Given the description of an element on the screen output the (x, y) to click on. 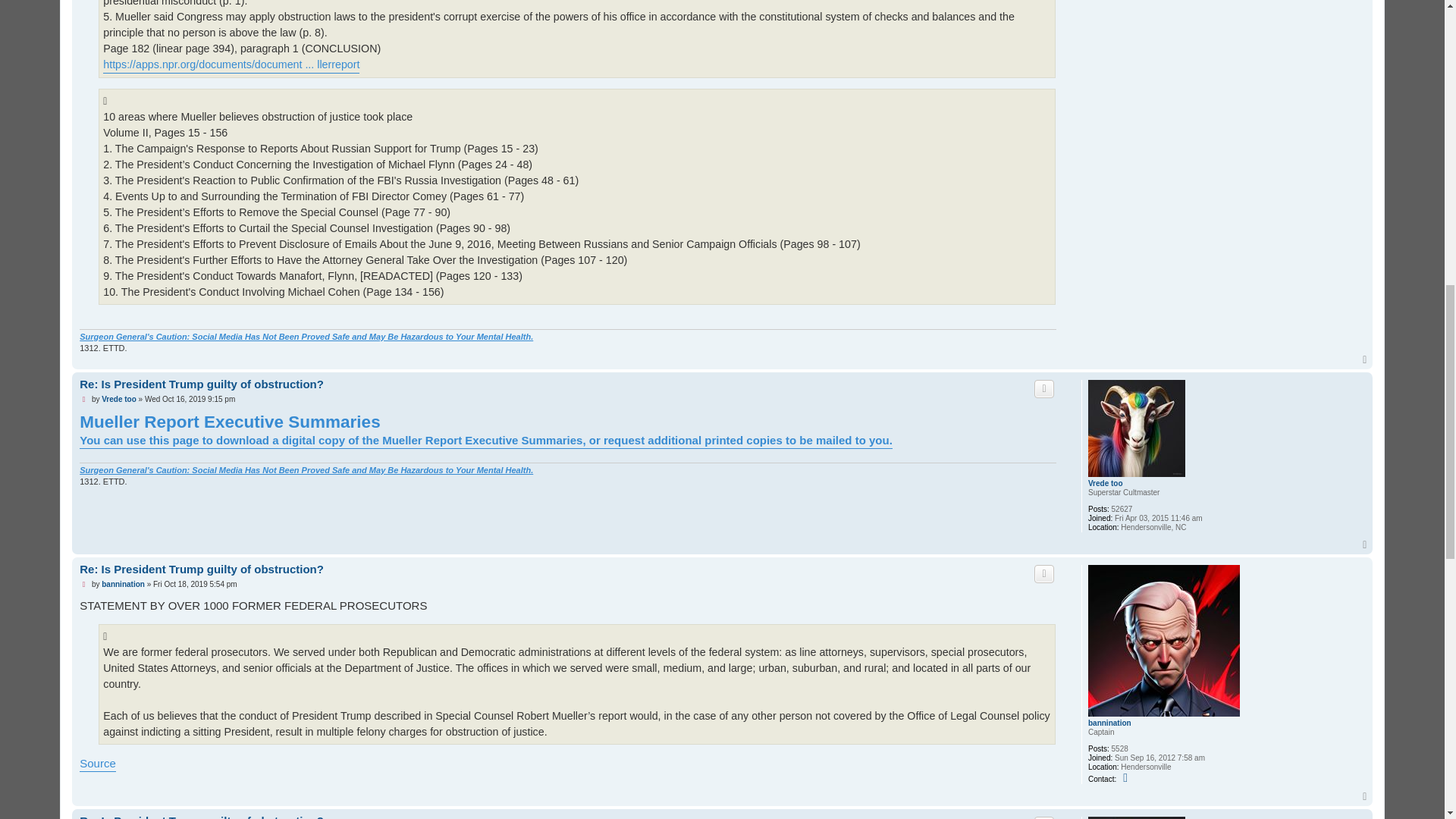
Vrede too (1104, 483)
Unread post (84, 399)
Top (1365, 359)
Reply with quote (1043, 389)
Re: Is President Trump guilty of obstruction? (201, 384)
Top (1365, 544)
Quote (1043, 389)
Top (1365, 359)
